Given the description of an element on the screen output the (x, y) to click on. 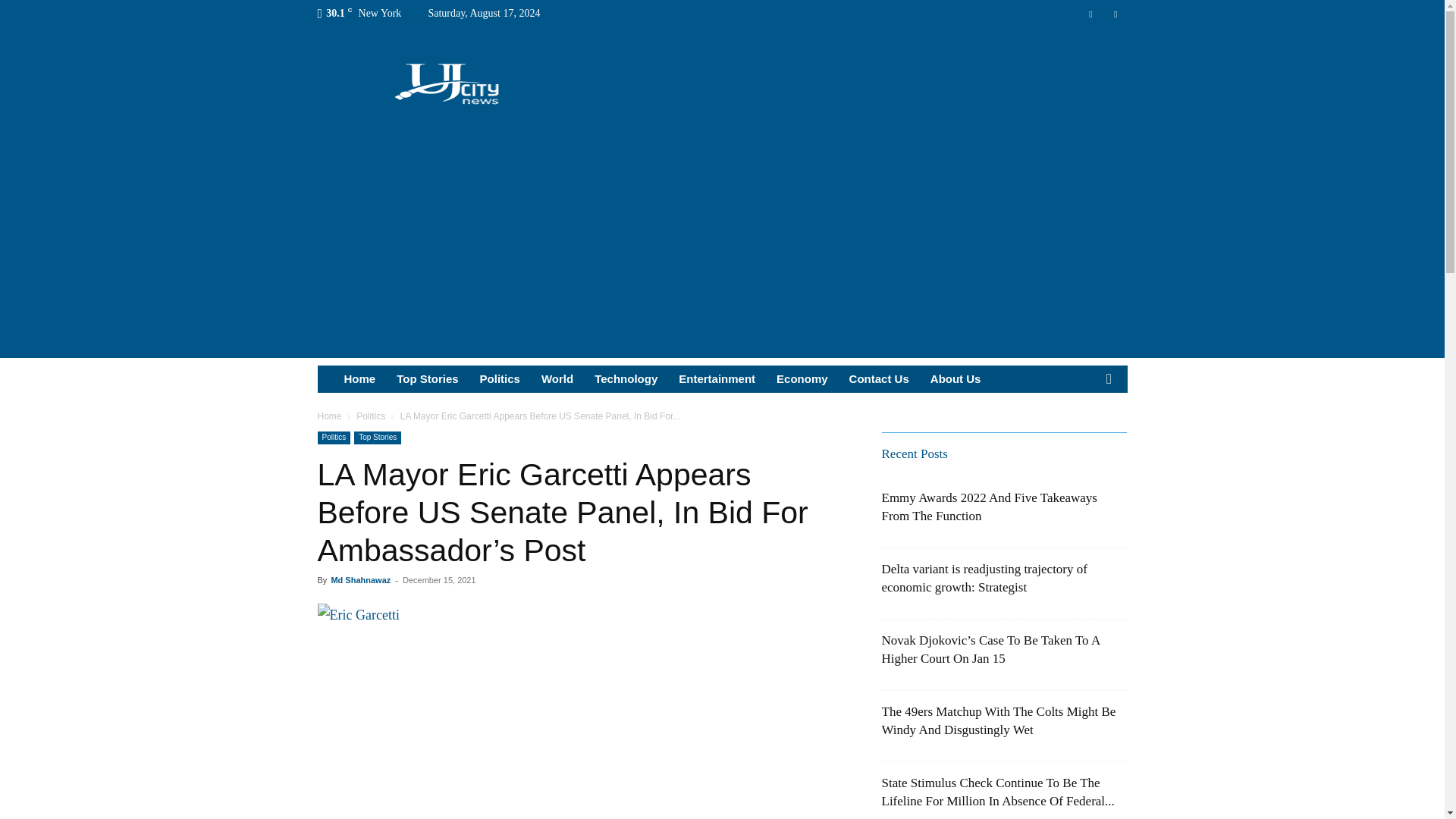
Economy (801, 379)
Md Shahnawaz (360, 579)
Entertainment (716, 379)
About Us (955, 379)
Top Stories (377, 437)
Politics (370, 416)
View all posts in Politics (370, 416)
Search (1085, 435)
Contact Us (879, 379)
Home (328, 416)
